Given the description of an element on the screen output the (x, y) to click on. 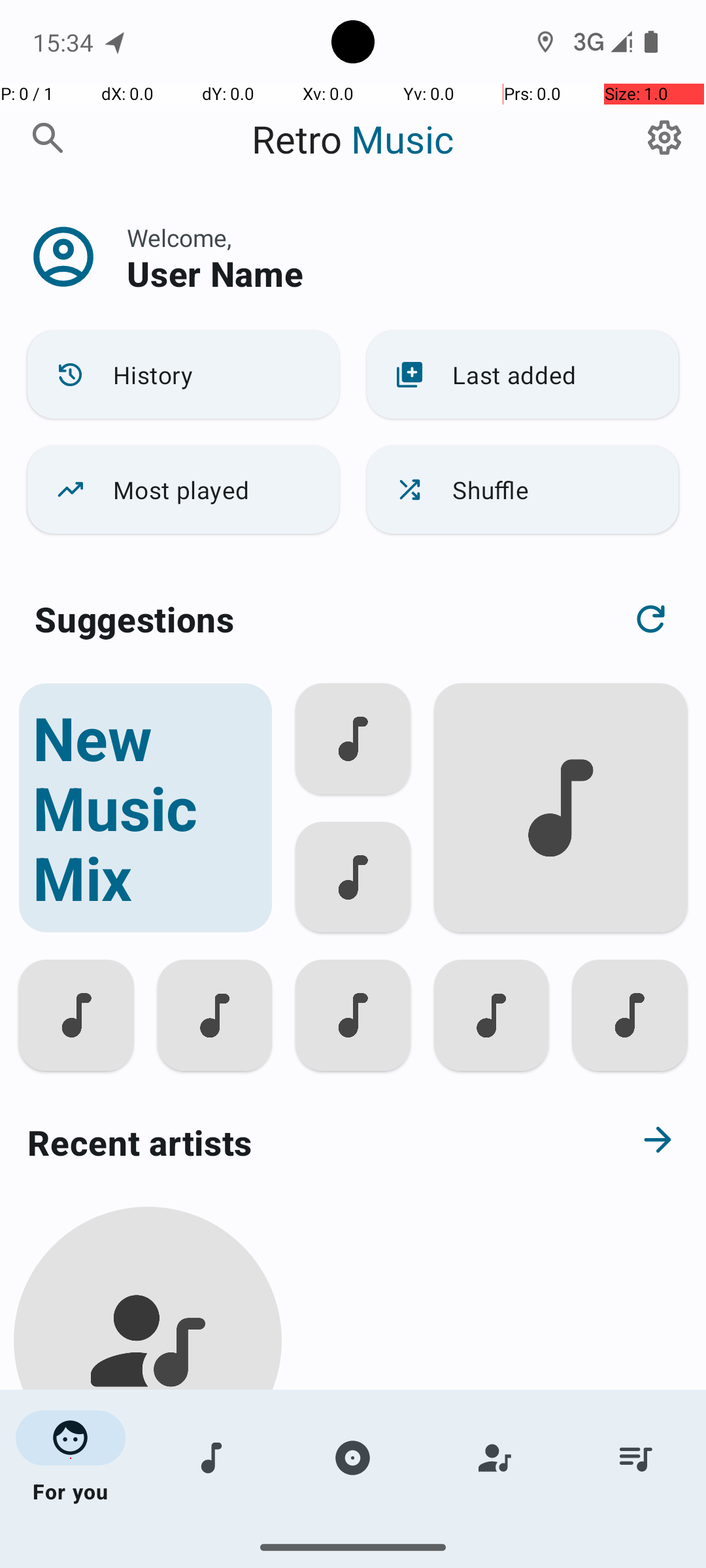
Emilia Element type: android.widget.TextView (147, 1503)
